Given the description of an element on the screen output the (x, y) to click on. 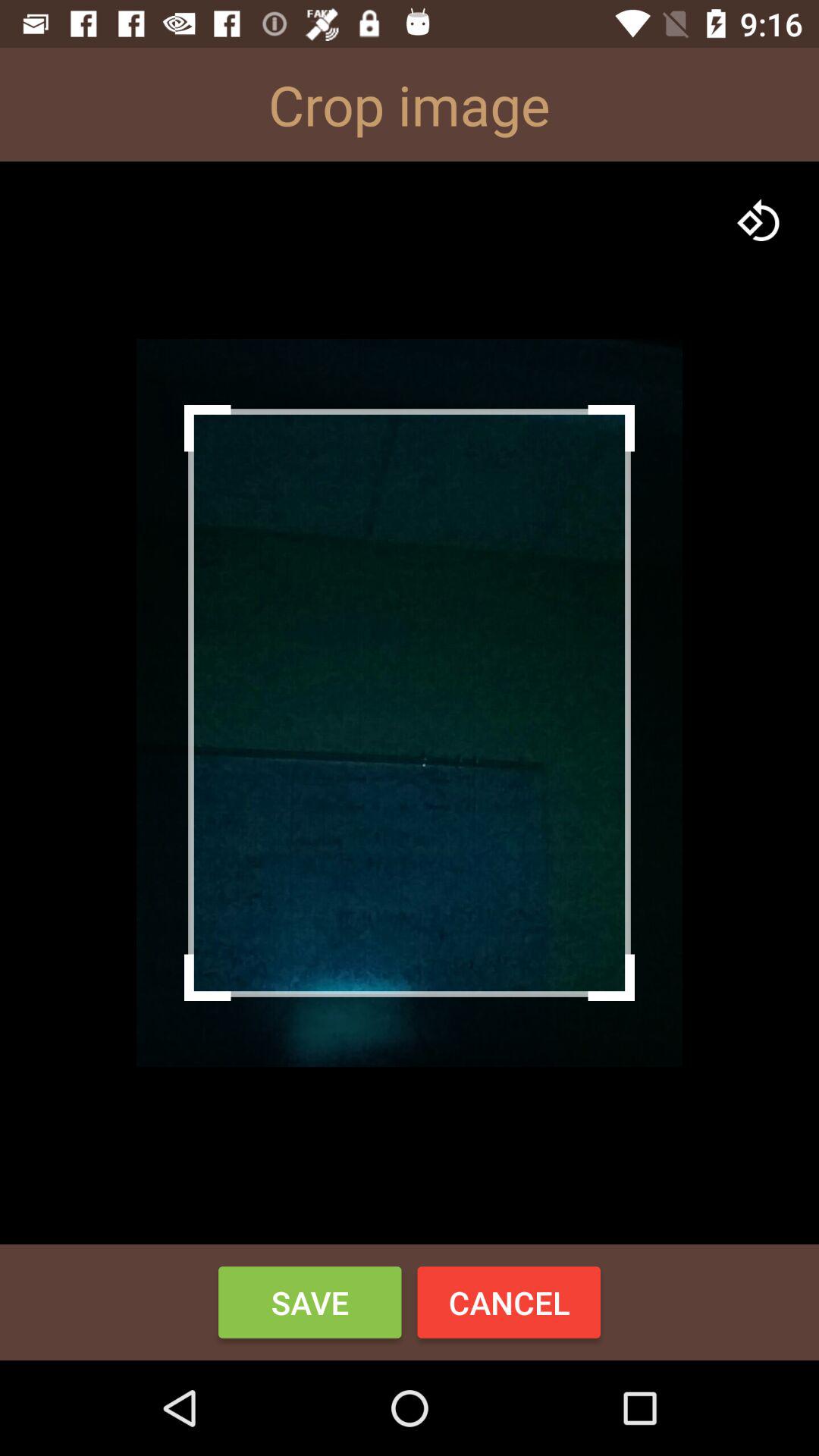
press cancel button (508, 1302)
